Given the description of an element on the screen output the (x, y) to click on. 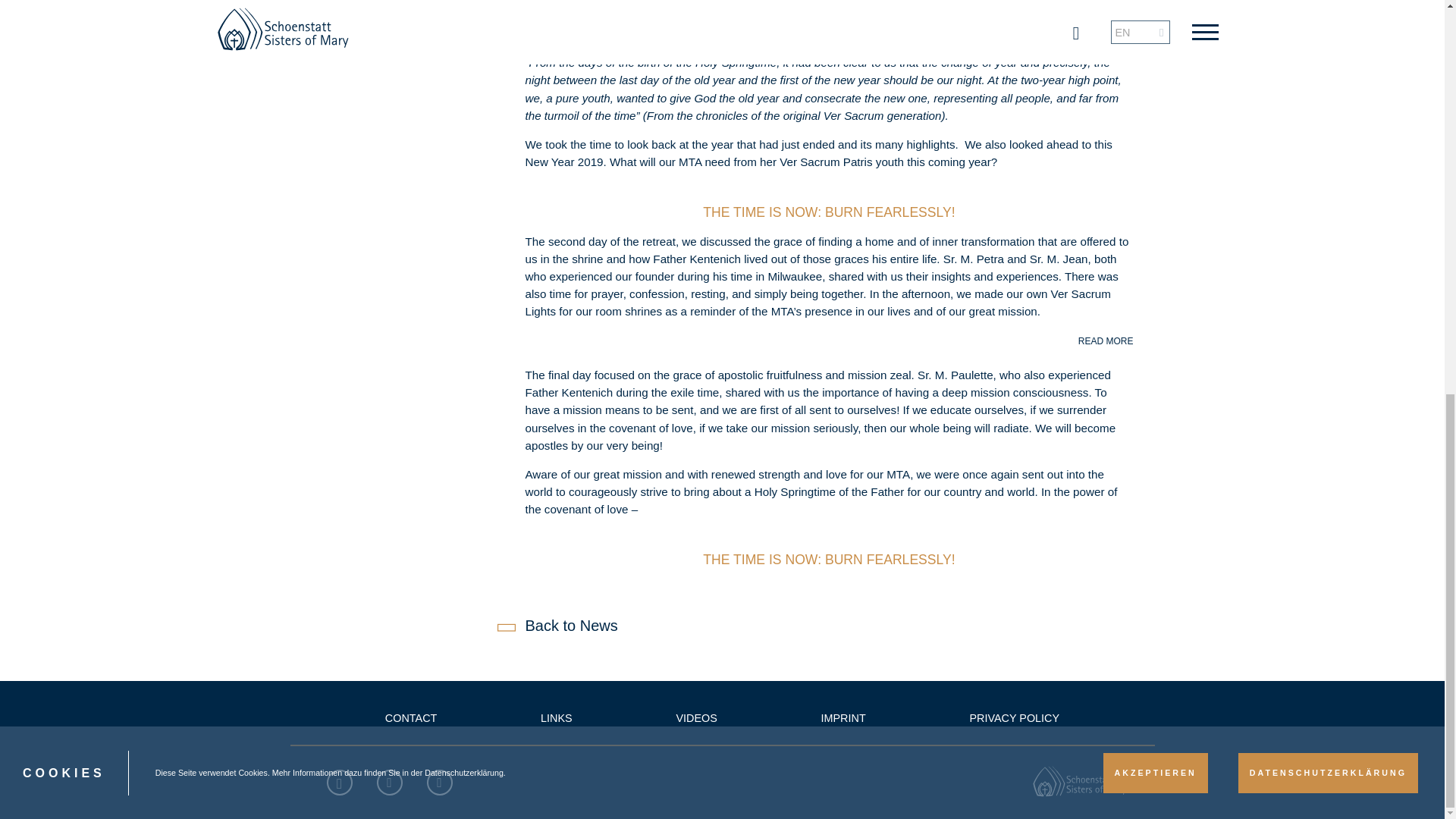
Back to News (558, 625)
VIDEOS (695, 717)
PRIVACY POLICY (1014, 717)
AKZEPTIEREN (1155, 18)
IMPRINT (843, 717)
CONTACT (410, 717)
LINKS (556, 717)
